Given the description of an element on the screen output the (x, y) to click on. 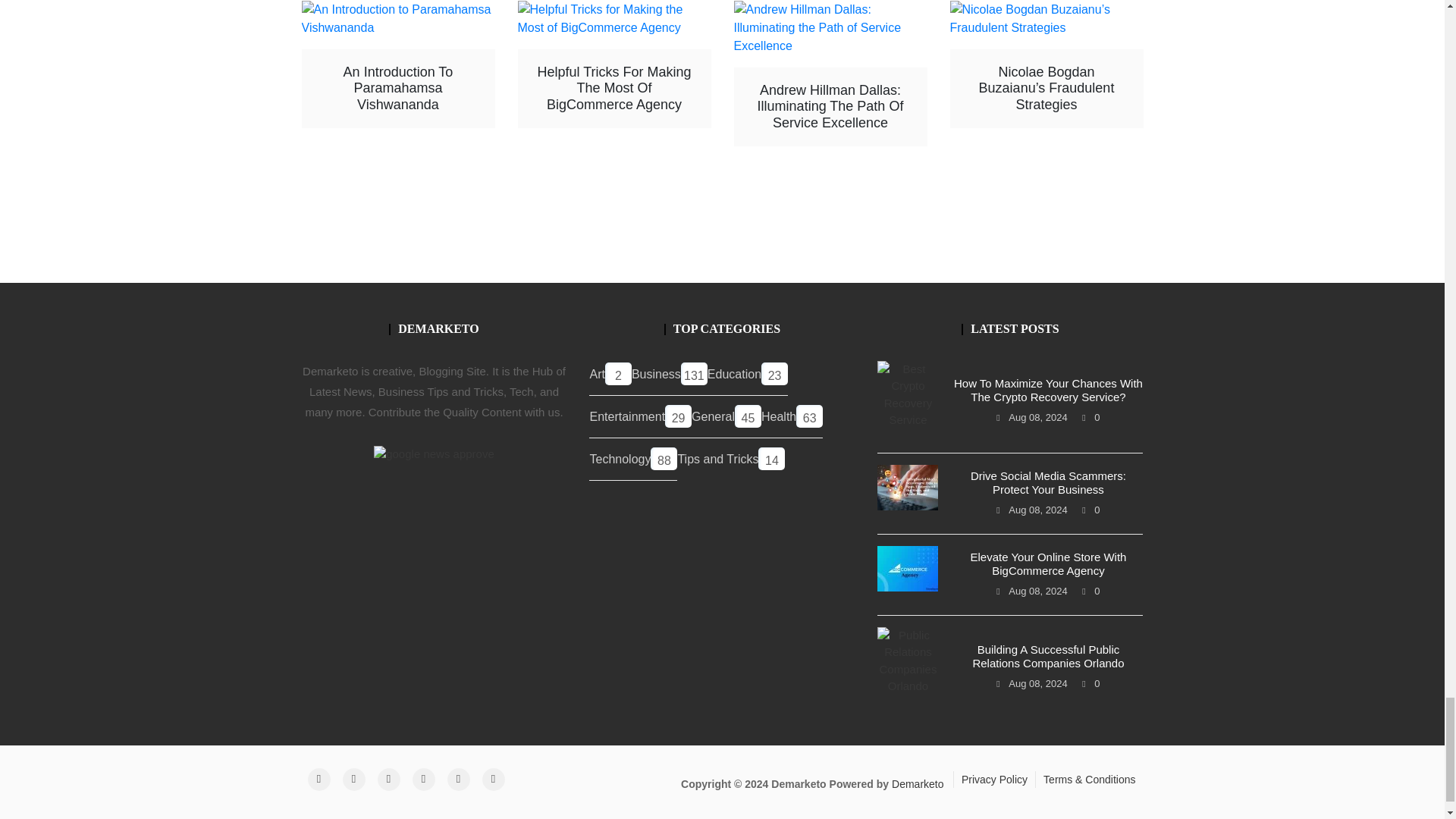
Helpful Tricks for Making the Most of BigCommerce Agency (613, 18)
An Introduction to Paramahamsa Vishwananda (398, 18)
